Given the description of an element on the screen output the (x, y) to click on. 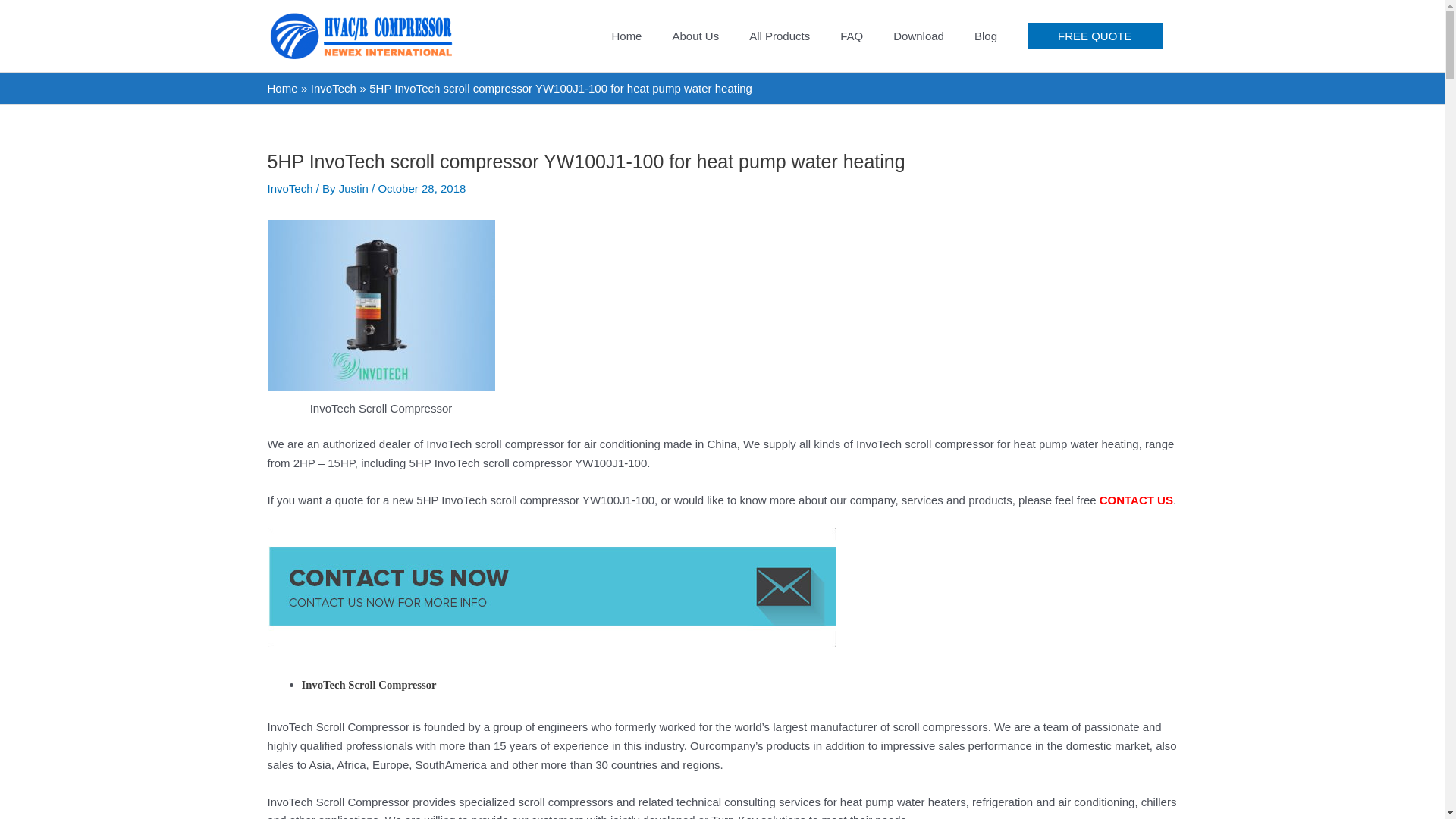
CONTACT US (1136, 499)
Download (918, 36)
View all posts by Justin (355, 187)
InvoTech (289, 187)
FREE QUOTE (1094, 35)
About Us (694, 36)
Justin (355, 187)
InvoTech (333, 88)
Home (281, 88)
All Products (779, 36)
